Given the description of an element on the screen output the (x, y) to click on. 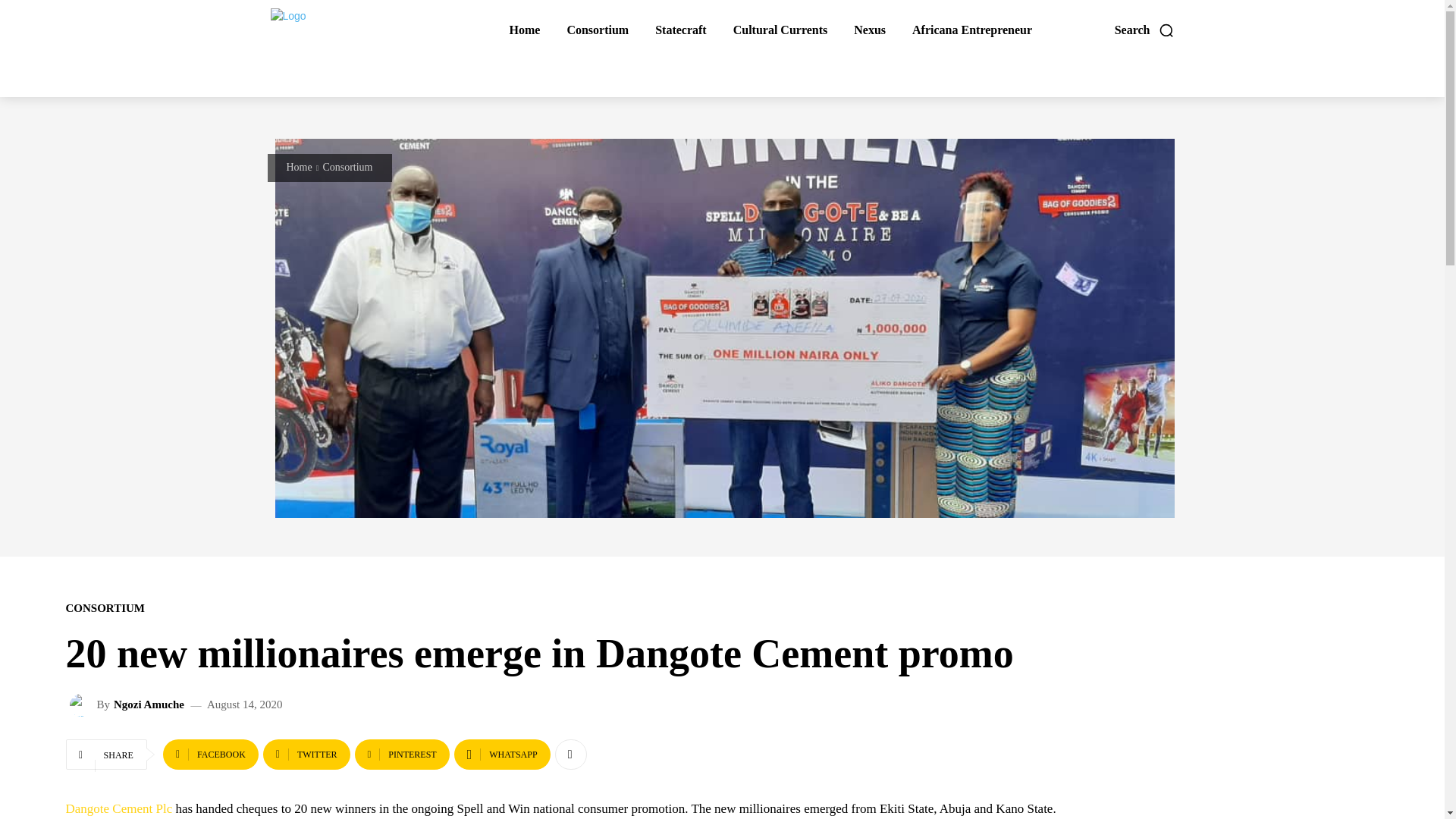
Home (299, 166)
Ngozi Amuche (83, 704)
Consortium (346, 166)
Africana Entrepreneur (971, 30)
TWITTER (306, 754)
More (570, 754)
Consortium (596, 30)
CONSORTIUM (104, 608)
Dangote Cement Plc (118, 808)
PINTEREST (402, 754)
